Given the description of an element on the screen output the (x, y) to click on. 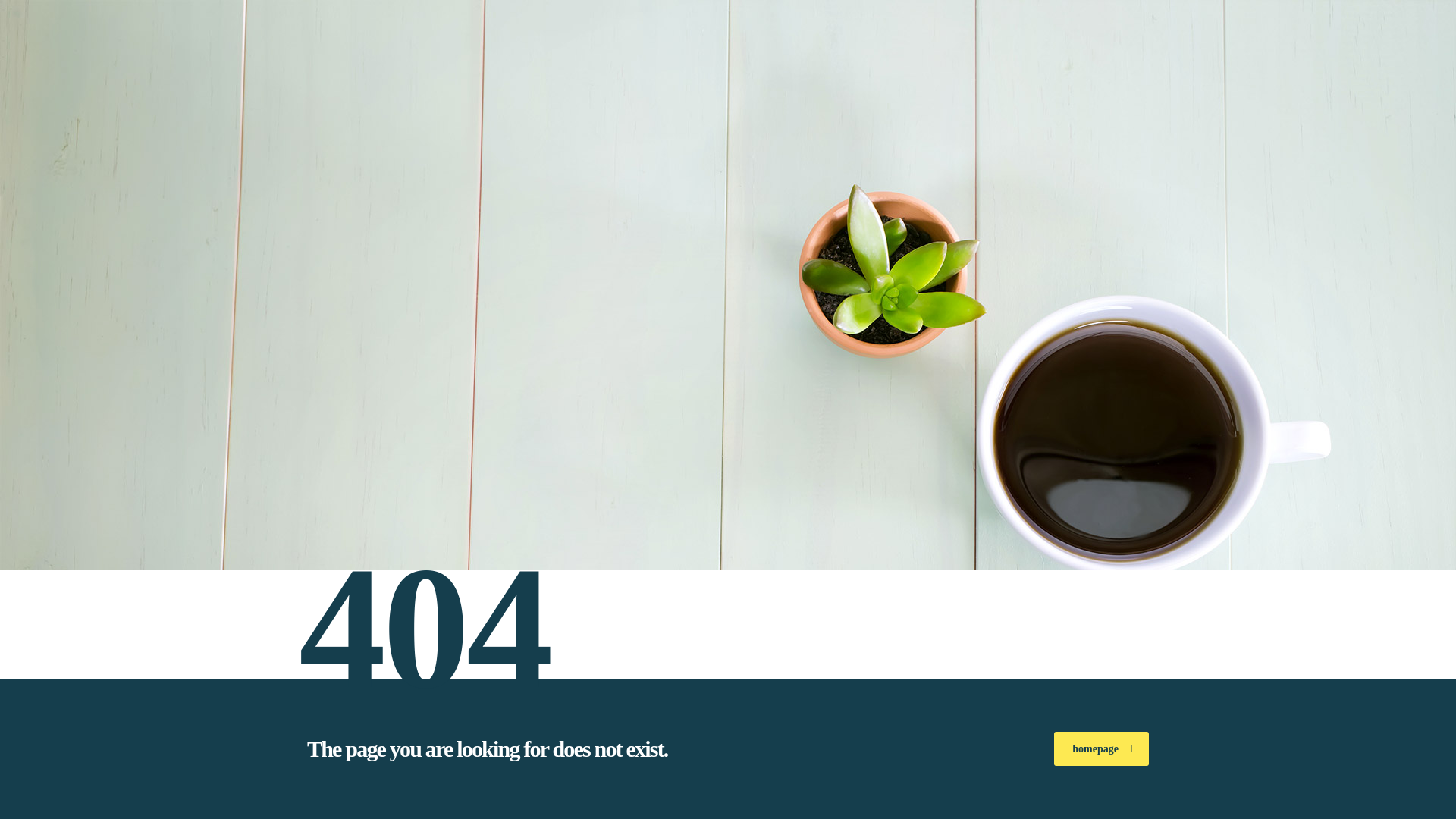
homepage (1101, 748)
